Given the description of an element on the screen output the (x, y) to click on. 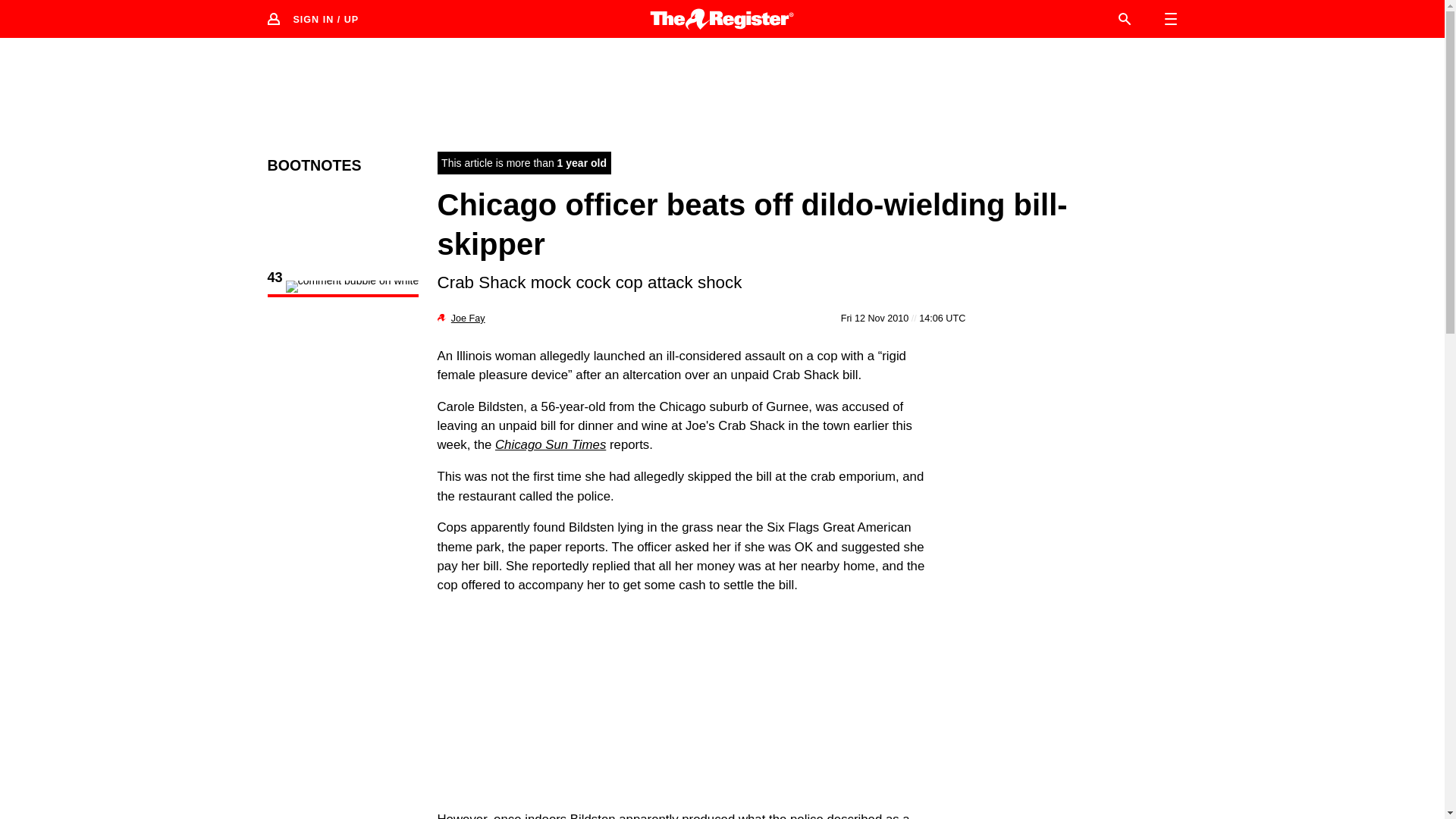
View comments on this article (342, 287)
Read more by this author (467, 318)
